Given the description of an element on the screen output the (x, y) to click on. 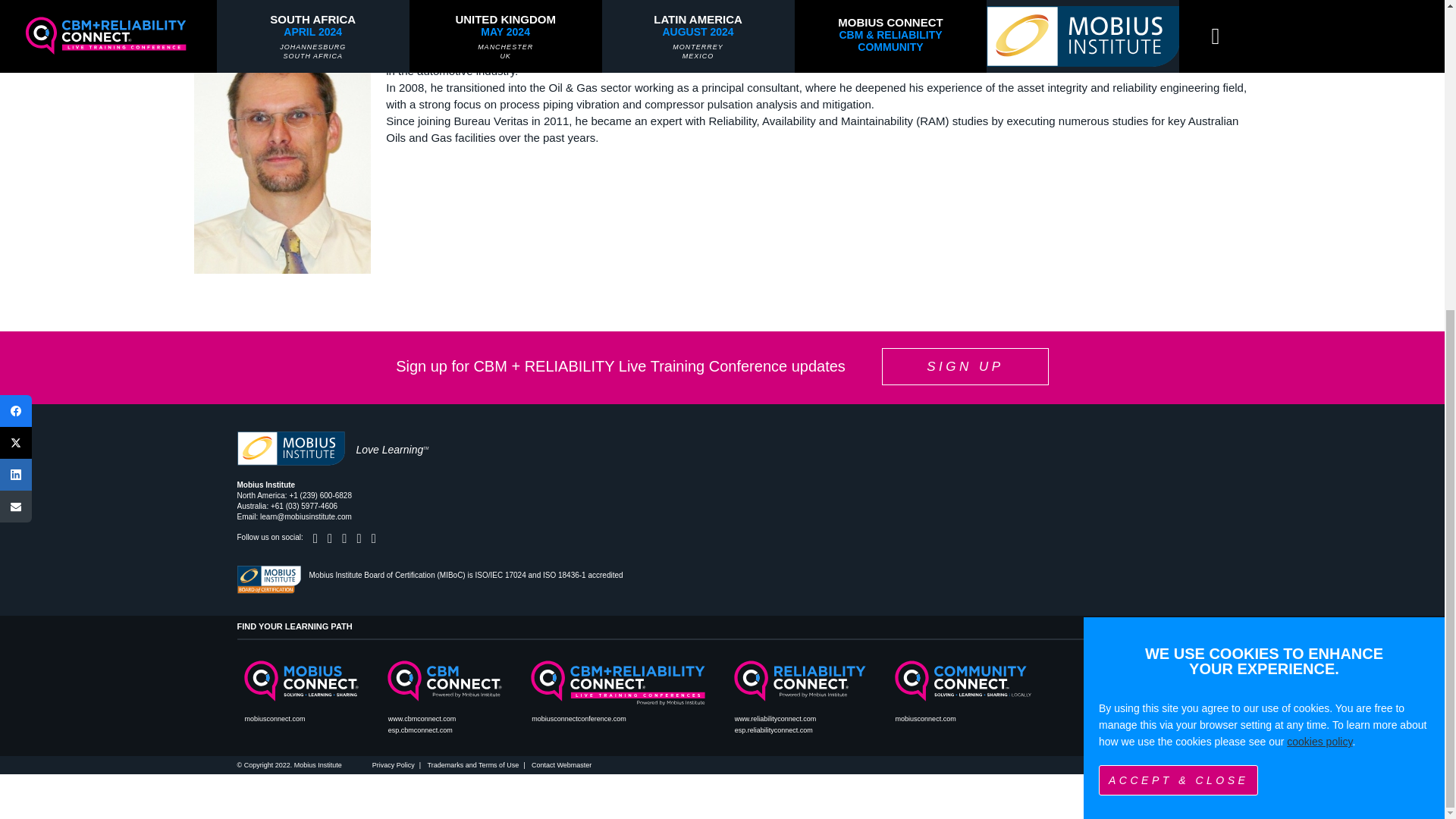
SIGN UP (965, 366)
cookies policy (1319, 250)
